Given the description of an element on the screen output the (x, y) to click on. 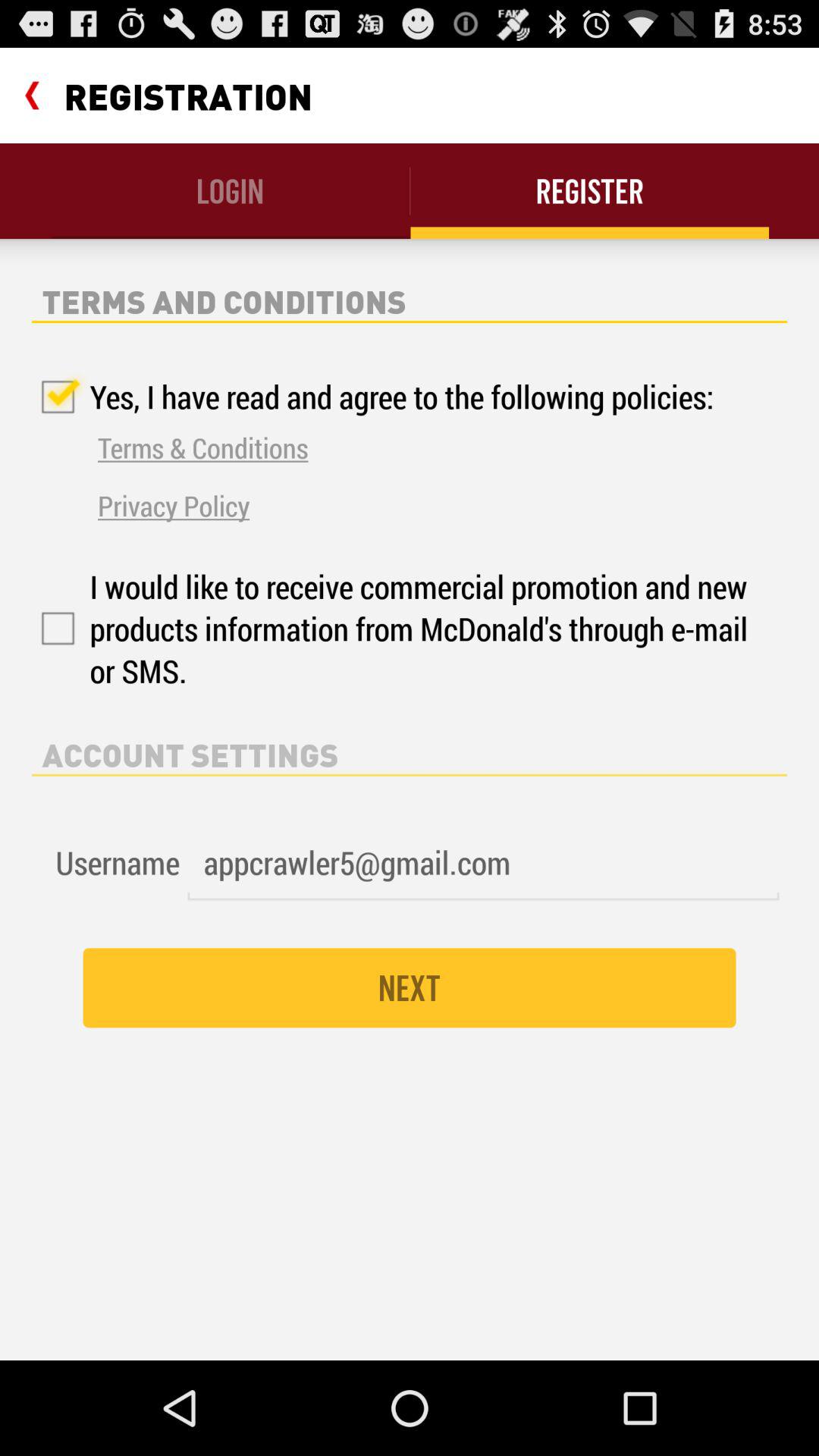
select item below privacy policy icon (393, 628)
